Given the description of an element on the screen output the (x, y) to click on. 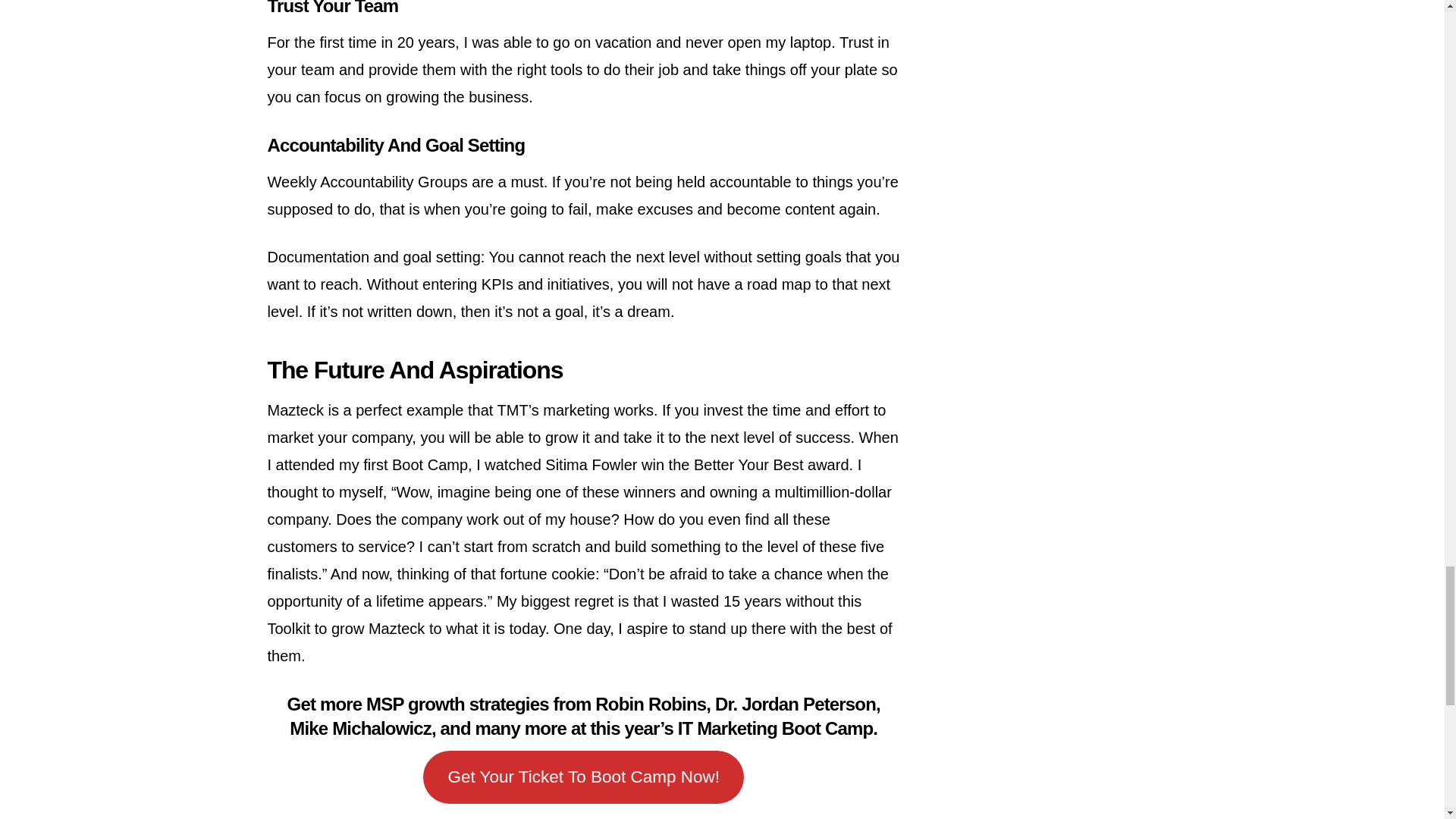
Get Your Ticket To Boot Camp Now! (583, 777)
